Given the description of an element on the screen output the (x, y) to click on. 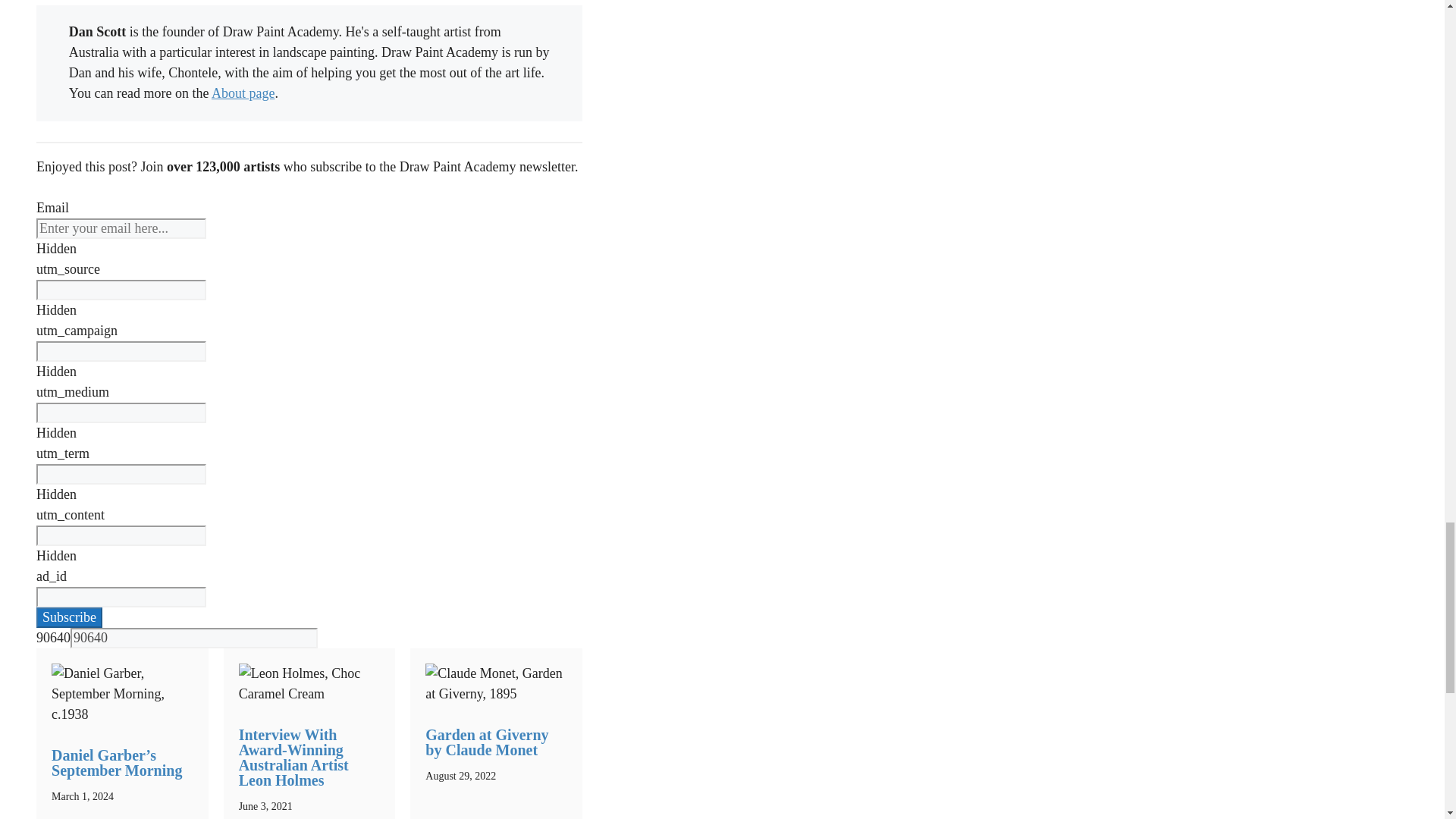
About page (243, 92)
90640 (193, 638)
Garden at Giverny by Claude Monet (486, 742)
Subscribe (68, 617)
Subscribe (68, 617)
Interview With Award-Winning Australian Artist Leon Holmes (293, 757)
